Given the description of an element on the screen output the (x, y) to click on. 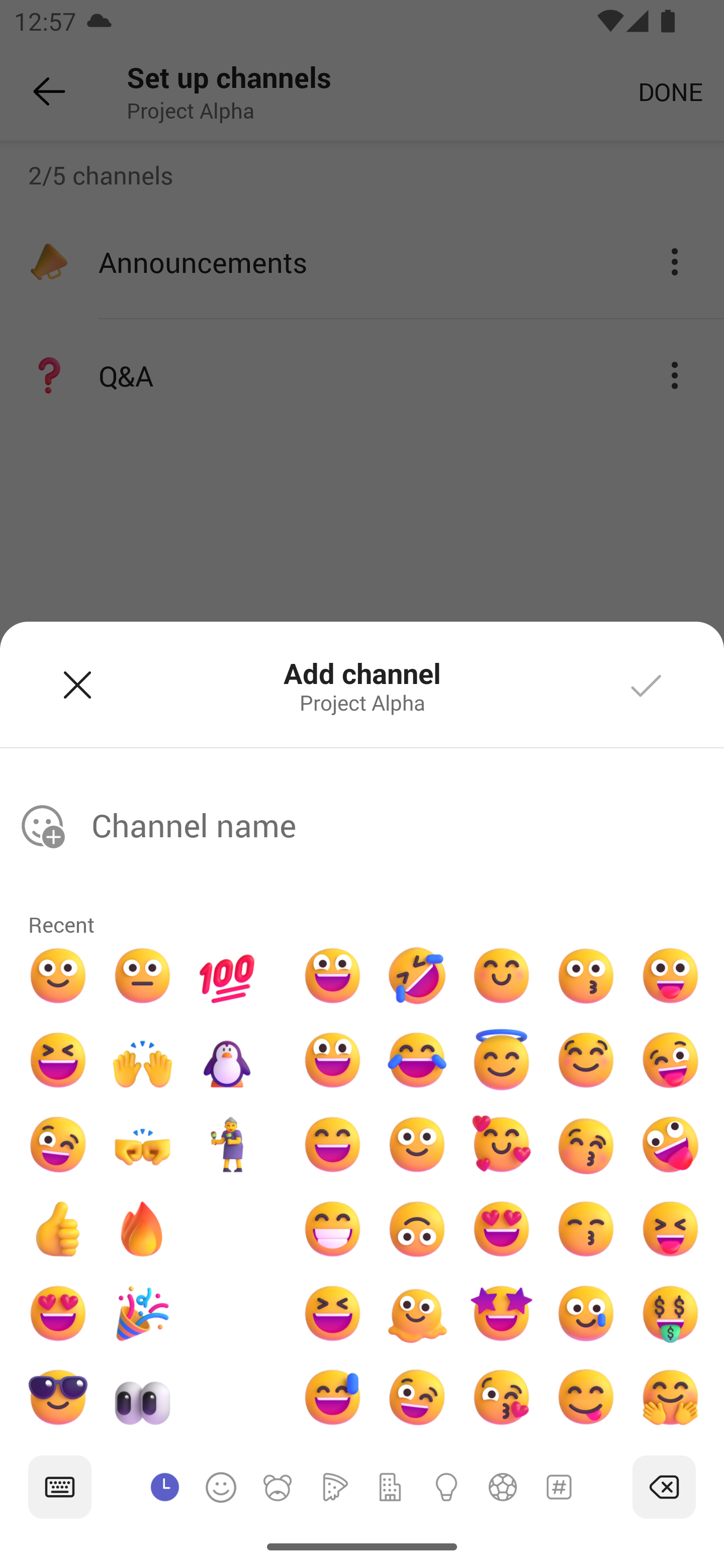
Dismiss (76, 684)
Add channel (646, 684)
No emoji selected (42, 826)
Channel name (404, 825)
Smile emoji (57, 975)
Speechless emoji (142, 975)
Hundred points emoji (226, 975)
Grinning face with big eyes emoji (332, 975)
Rolling on the floor laughing emoji (416, 975)
Smile eyes emoji (501, 975)
Kiss emoji (585, 975)
Face with tongue emoji (670, 975)
Laugh emoji (57, 1060)
Hands celebrating emoji (142, 1060)
Dancing penguin emoji (226, 1060)
Happy face emoji (332, 1060)
Crying with laughter emoji (416, 1060)
Angel emoji (501, 1060)
Mmmmm… emoji (585, 1060)
Winking tongue out emoji (670, 1060)
Wink emoji (57, 1144)
Fist bump emoji (142, 1144)
Dancing gran emoji (226, 1144)
Grinning face with smiling eyes emoji (332, 1144)
Smile emoji (416, 1144)
In love emoji (501, 1144)
Kissing face with closed eyes emoji (585, 1144)
Zany face emoji (670, 1144)
Yes emoji (57, 1228)
Fire emoji (142, 1228)
Beaming face with smiling eyes emoji (332, 1228)
Upside down face emoji (416, 1228)
Heart eyes emoji (501, 1228)
Kissing face with smiling eyes emoji (585, 1228)
Squinting face with tongue emoji (670, 1228)
Heart eyes emoji (57, 1313)
Party popper emoji (142, 1313)
Laugh emoji (332, 1313)
Melting face emoji (416, 1313)
Star eyes emoji (501, 1313)
Smiling face with tear emoji (585, 1313)
Money mouth face emoji (670, 1313)
Cool emoji (57, 1397)
Eyes emoji (142, 1397)
Sweat grinning emoji (332, 1397)
Wink emoji (416, 1397)
Face blowing a kiss emoji (501, 1397)
Cheeky emoji (585, 1397)
Hugging face emoji (670, 1397)
Recent, selected (164, 1486)
Smileys and people, not selected (221, 1486)
Animals, not selected (277, 1486)
Food, not selected (333, 1486)
Travel and places, not selected (390, 1486)
Objects, not selected (446, 1486)
Activities, not selected (502, 1486)
Symbols, not selected (558, 1486)
